Given the description of an element on the screen output the (x, y) to click on. 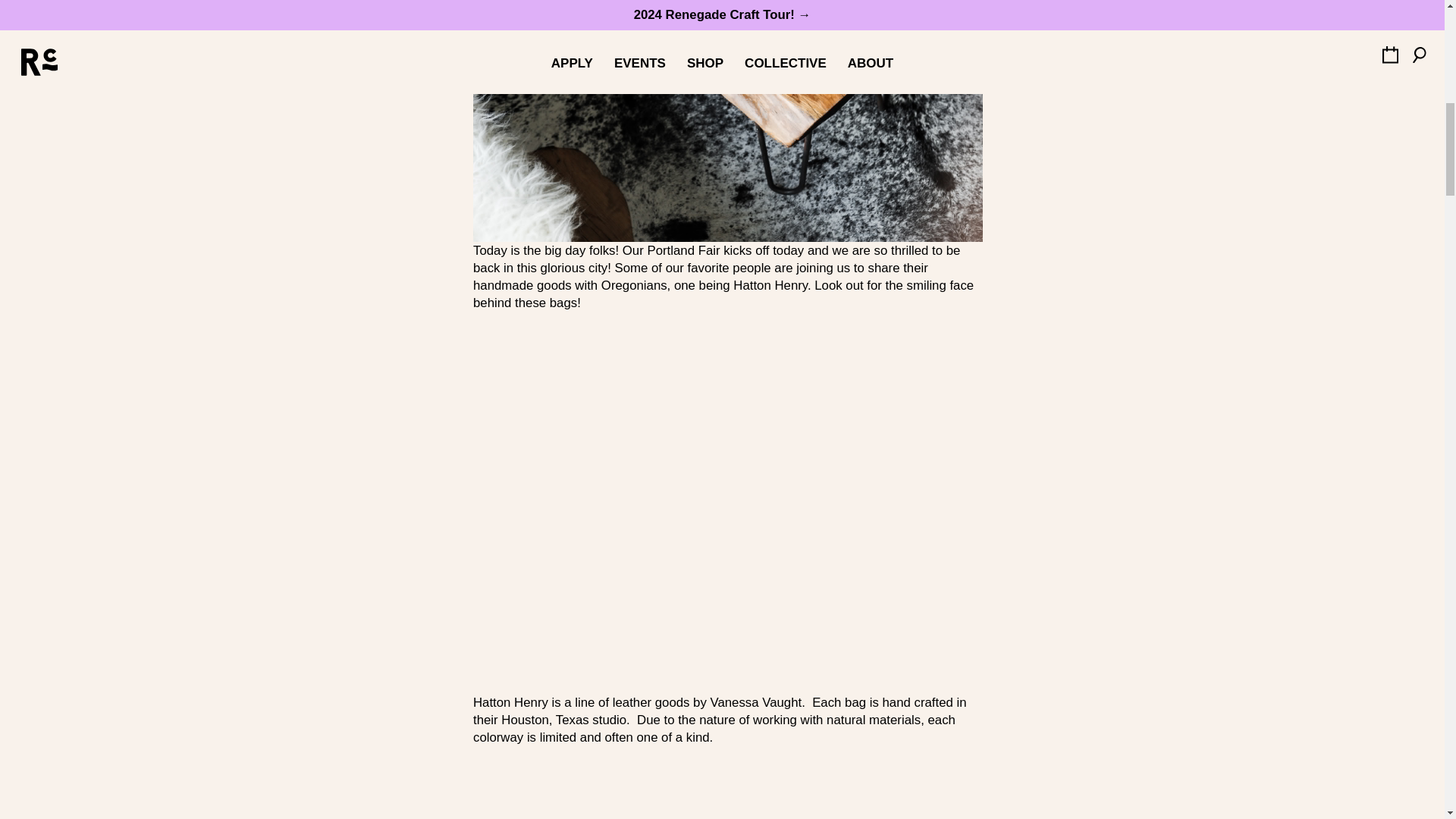
Hatton Henry (770, 285)
Portland Fair (682, 250)
Hatton Henry (510, 702)
